Given the description of an element on the screen output the (x, y) to click on. 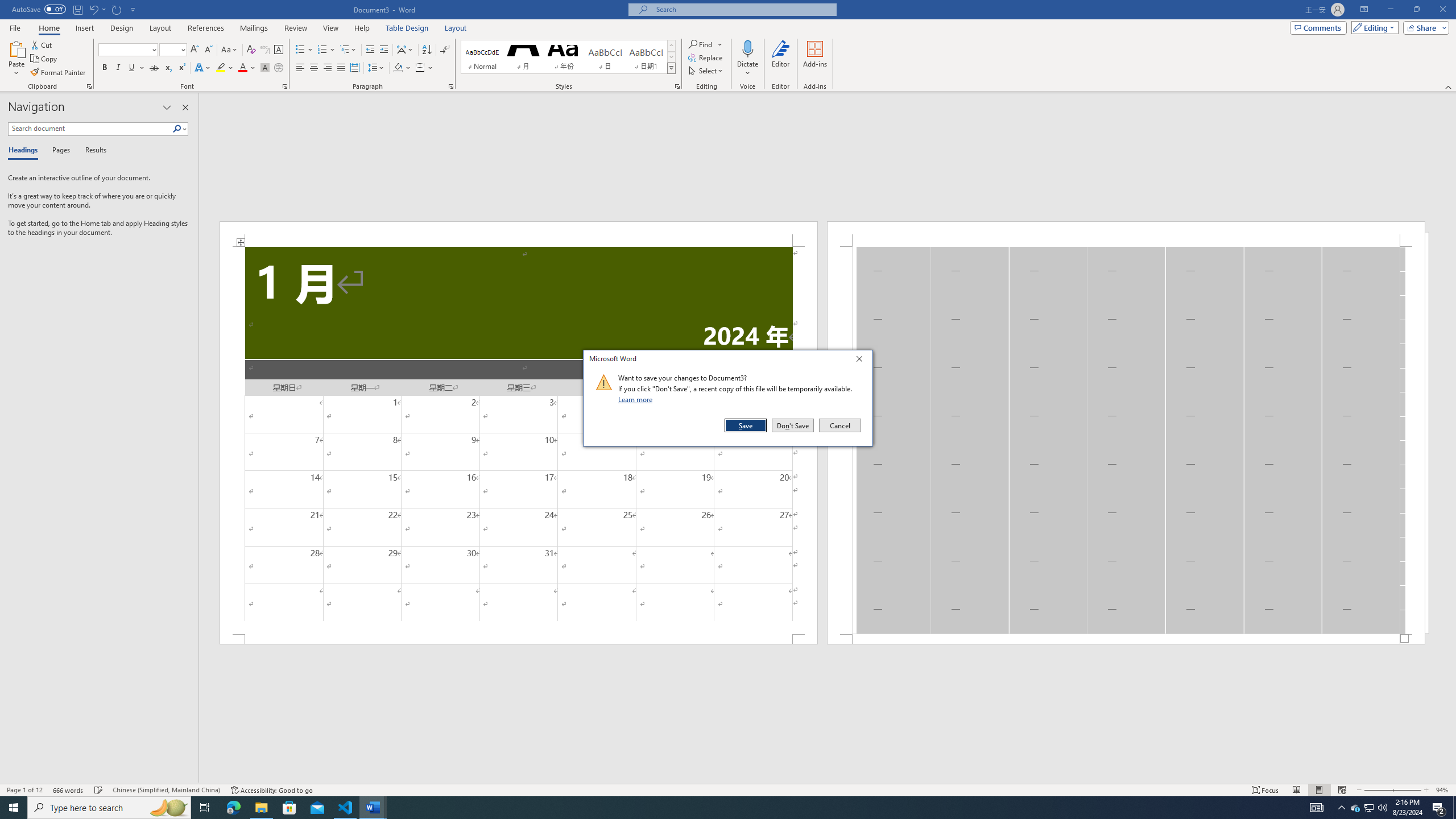
Cancel (839, 425)
Learn more (636, 399)
